Given the description of an element on the screen output the (x, y) to click on. 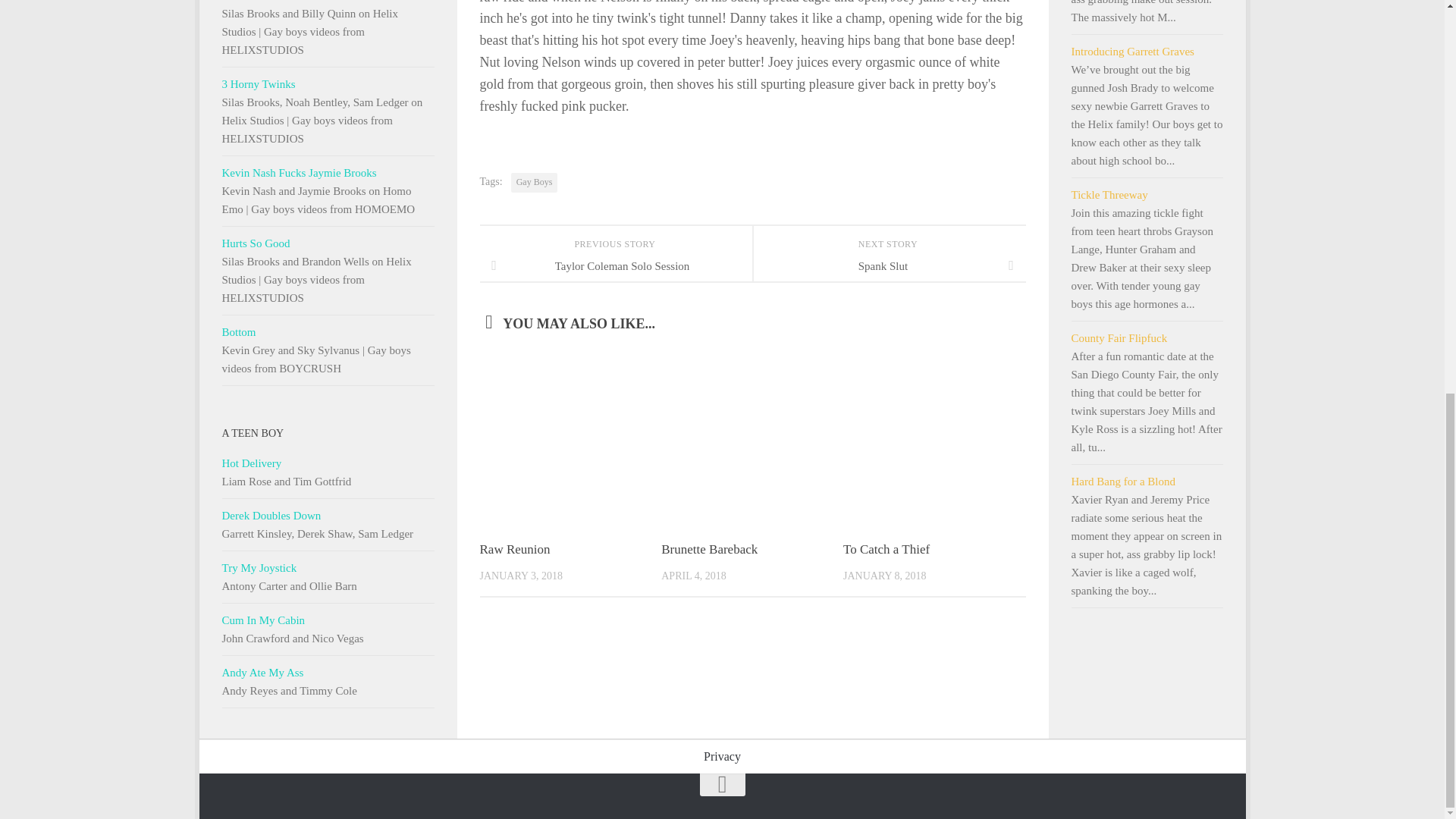
3 Horny Twinks (327, 84)
Pool Table Tussle (327, 2)
Spank Slut (888, 266)
Brunette Bareback (709, 549)
Raw Reunion (514, 549)
Gay Boys (534, 182)
To Catch a Thief (886, 549)
Taylor Coleman Solo Session (615, 266)
